Given the description of an element on the screen output the (x, y) to click on. 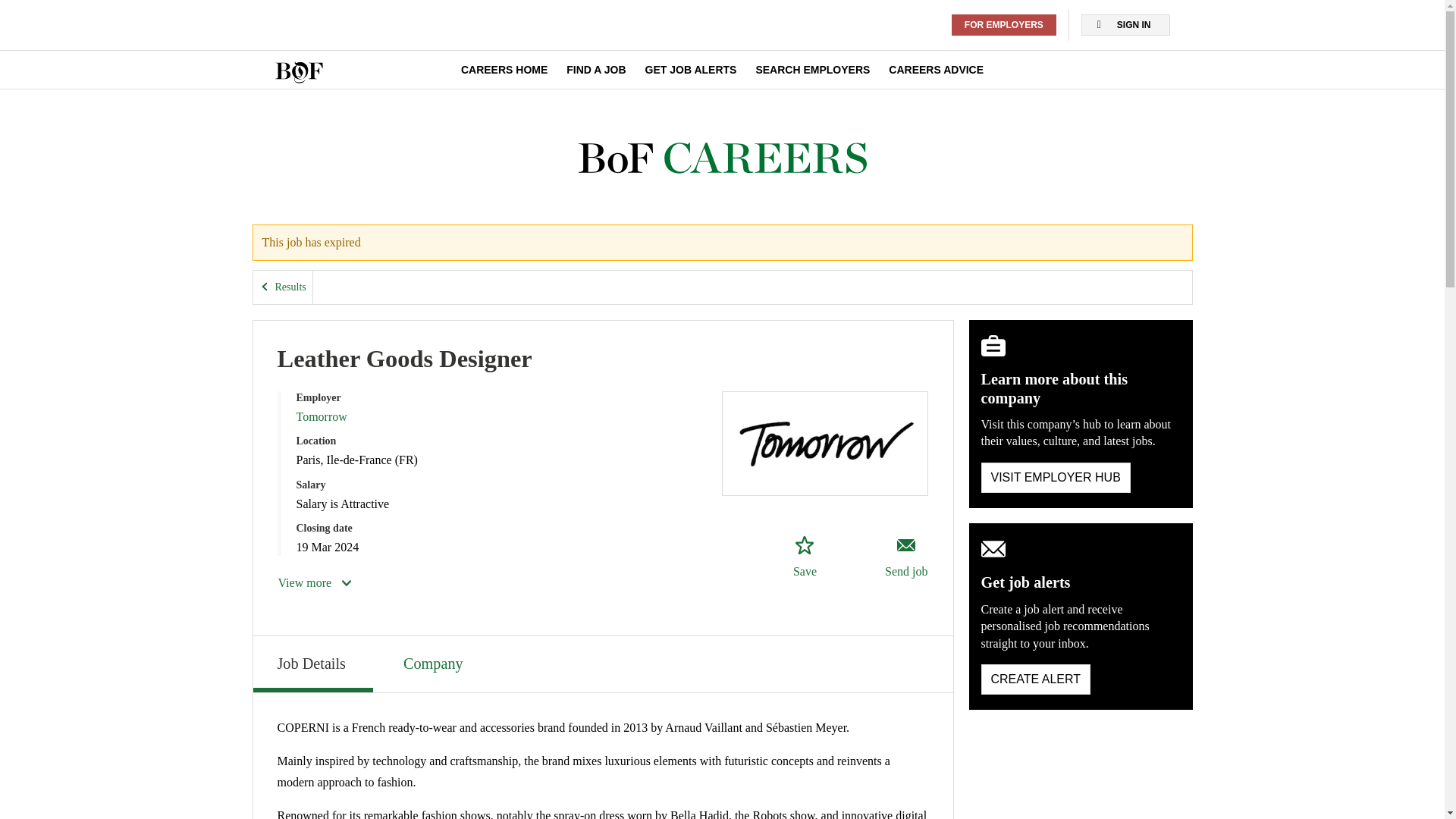
CAREERS ADVICE (936, 69)
SEARCH EMPLOYERS (812, 69)
FOR EMPLOYERS (1004, 25)
Job Details (312, 664)
Company (434, 661)
BoF Careers (722, 158)
GET JOB ALERTS (690, 69)
View more (315, 583)
Results (283, 287)
CREATE ALERT (1035, 679)
SIGN IN (1125, 25)
VISIT EMPLOYER HUB (1056, 477)
FIND A JOB (596, 69)
CAREERS HOME (504, 69)
Tomorrow (320, 416)
